Given the description of an element on the screen output the (x, y) to click on. 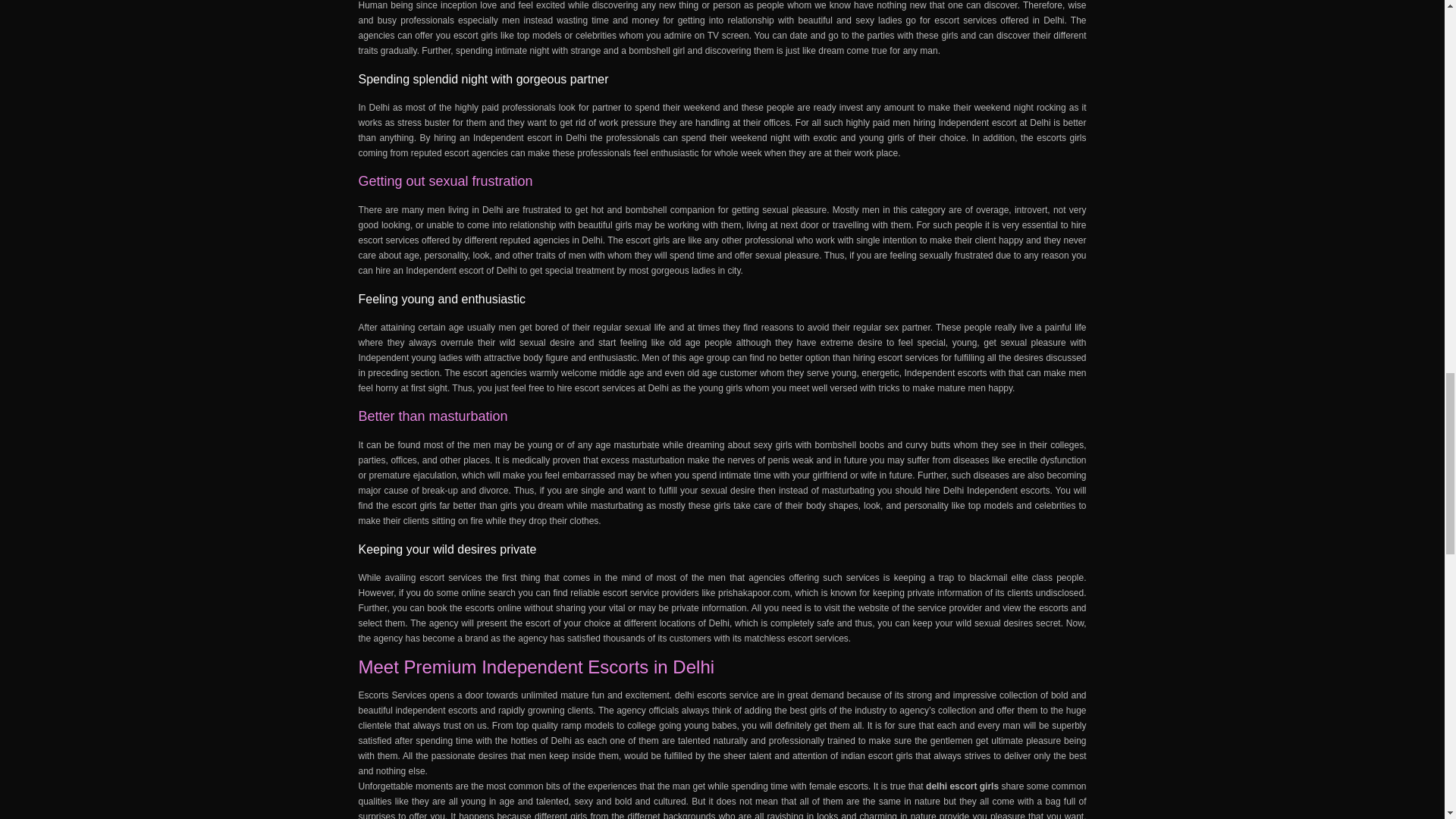
delhi escort girls (962, 786)
delhi escorts service (716, 695)
